Given the description of an element on the screen output the (x, y) to click on. 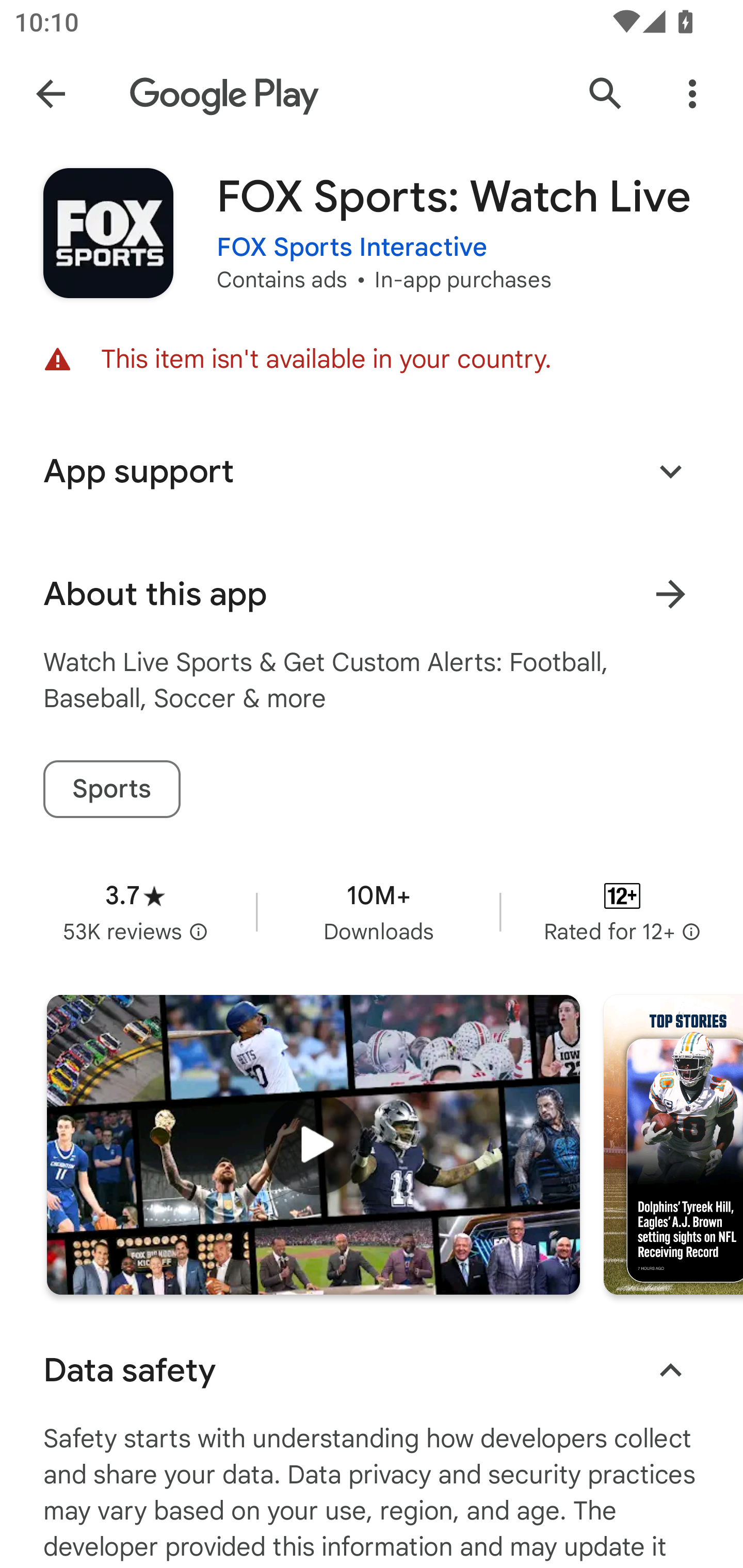
Navigate up (50, 93)
Search Google Play (605, 93)
More Options (692, 93)
FOX Sports Interactive (351, 247)
App support Expand (371, 471)
Expand (670, 471)
About this app Learn more About this app (371, 594)
Learn more About this app (670, 594)
Sports tag (111, 789)
Average rating 3.7 stars in 53 thousand reviews (135, 911)
Content rating Rated for 12+ (622, 911)
Play trailer for "FOX Sports: Watch Live" (313, 1145)
Data safety Collapse (371, 1370)
Collapse (670, 1370)
